Given the description of an element on the screen output the (x, y) to click on. 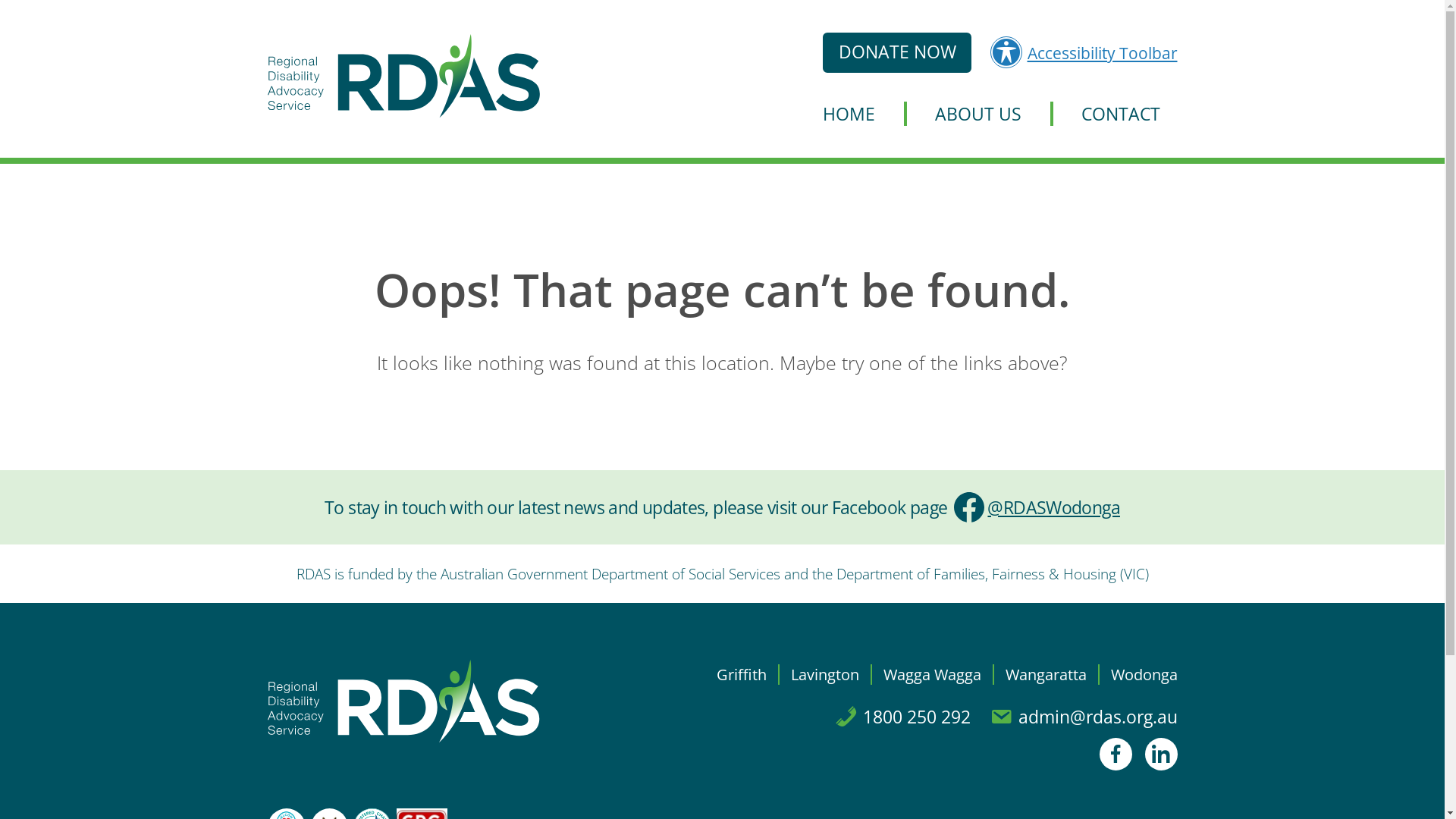
Griffith Element type: text (746, 674)
admin@rdas.org.au Element type: text (1083, 715)
Lavington Element type: text (824, 674)
Wangaratta Element type: text (1044, 674)
CONTACT Element type: text (1105, 113)
linkedin Element type: hover (1161, 753)
1800 250 292 Element type: text (902, 715)
Wodonga Element type: text (1137, 674)
DONATE NOW Element type: text (896, 51)
Wagga Wagga Element type: text (931, 674)
facebook Element type: hover (1122, 753)
HOME Element type: text (862, 113)
Accessibility Toolbar Element type: text (1083, 52)
ABOUT US Element type: text (976, 113)
@RDASWodonga Element type: text (1035, 506)
